Given the description of an element on the screen output the (x, y) to click on. 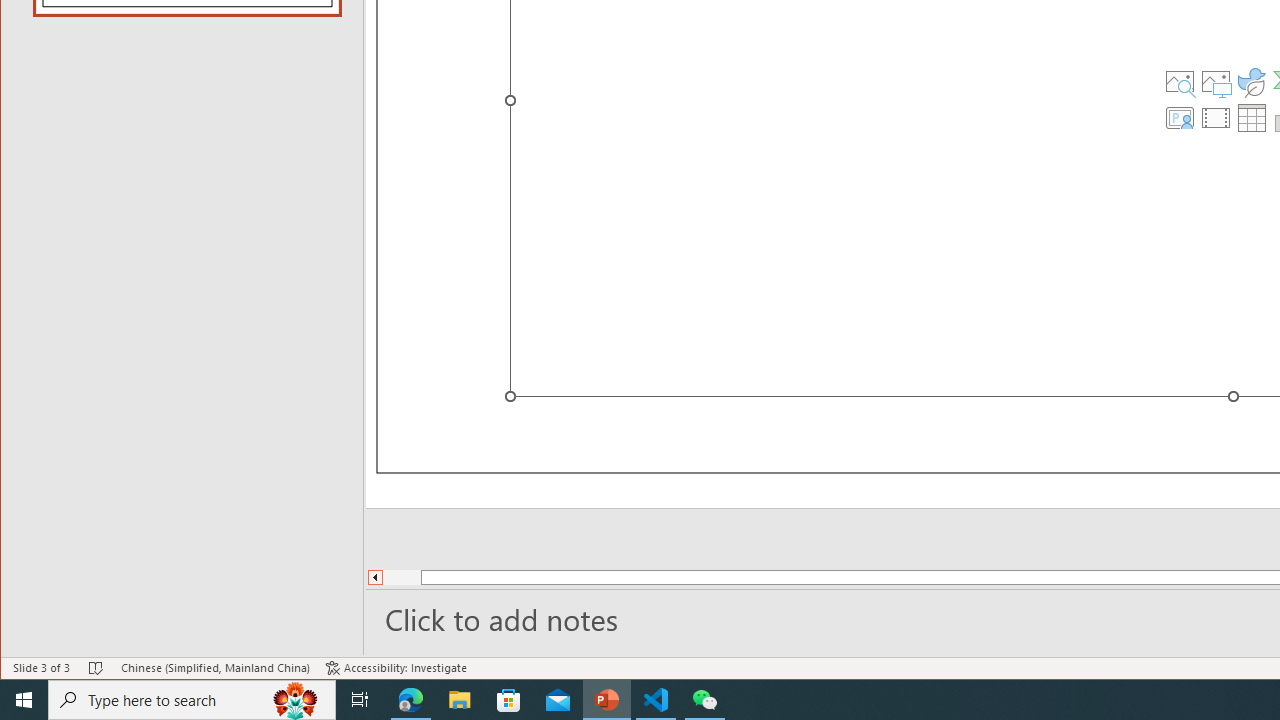
WeChat - 1 running window (704, 699)
Insert Cameo (1179, 117)
